Given the description of an element on the screen output the (x, y) to click on. 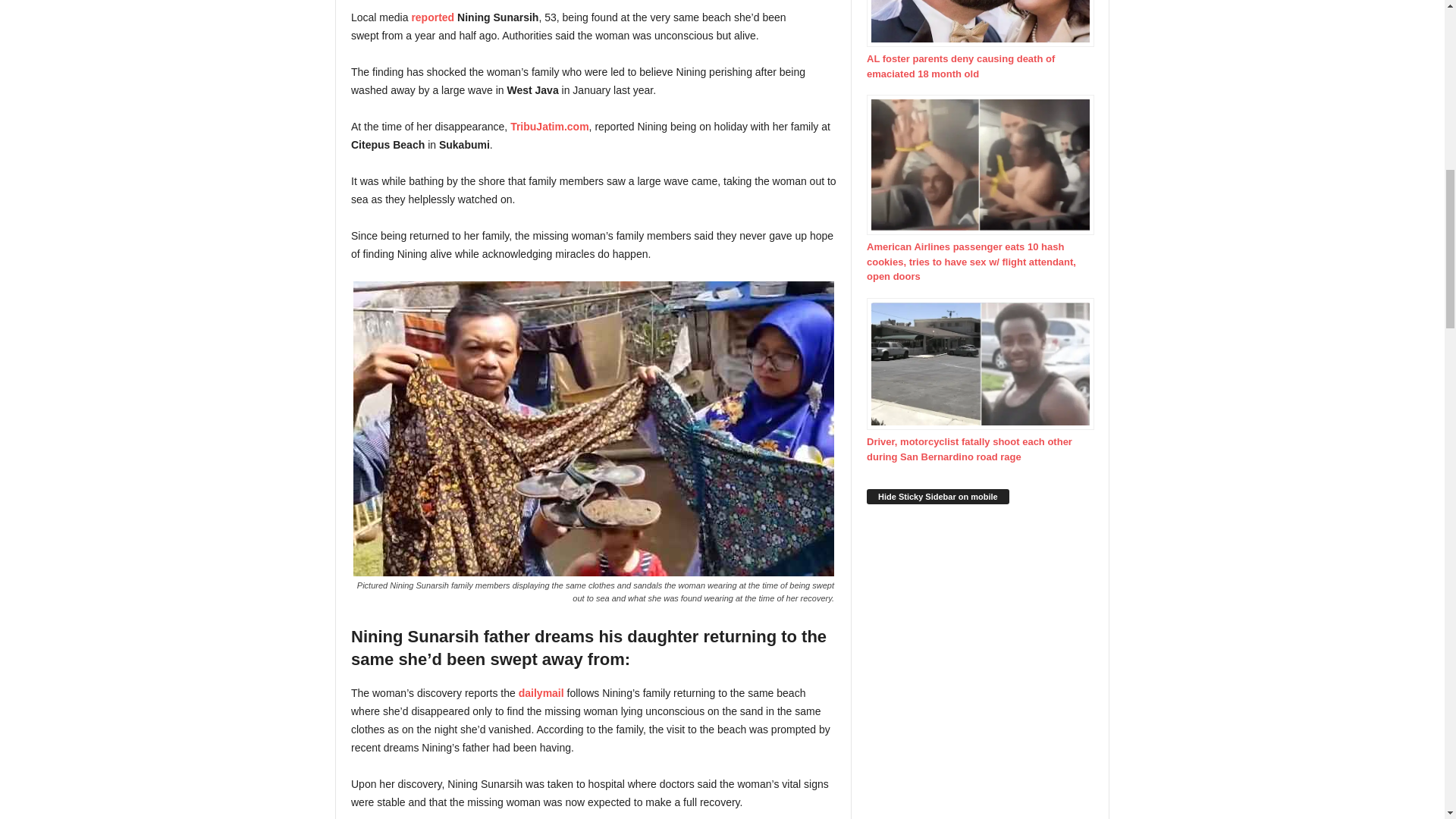
reported (430, 17)
TribuJatim.com (549, 126)
